Given the description of an element on the screen output the (x, y) to click on. 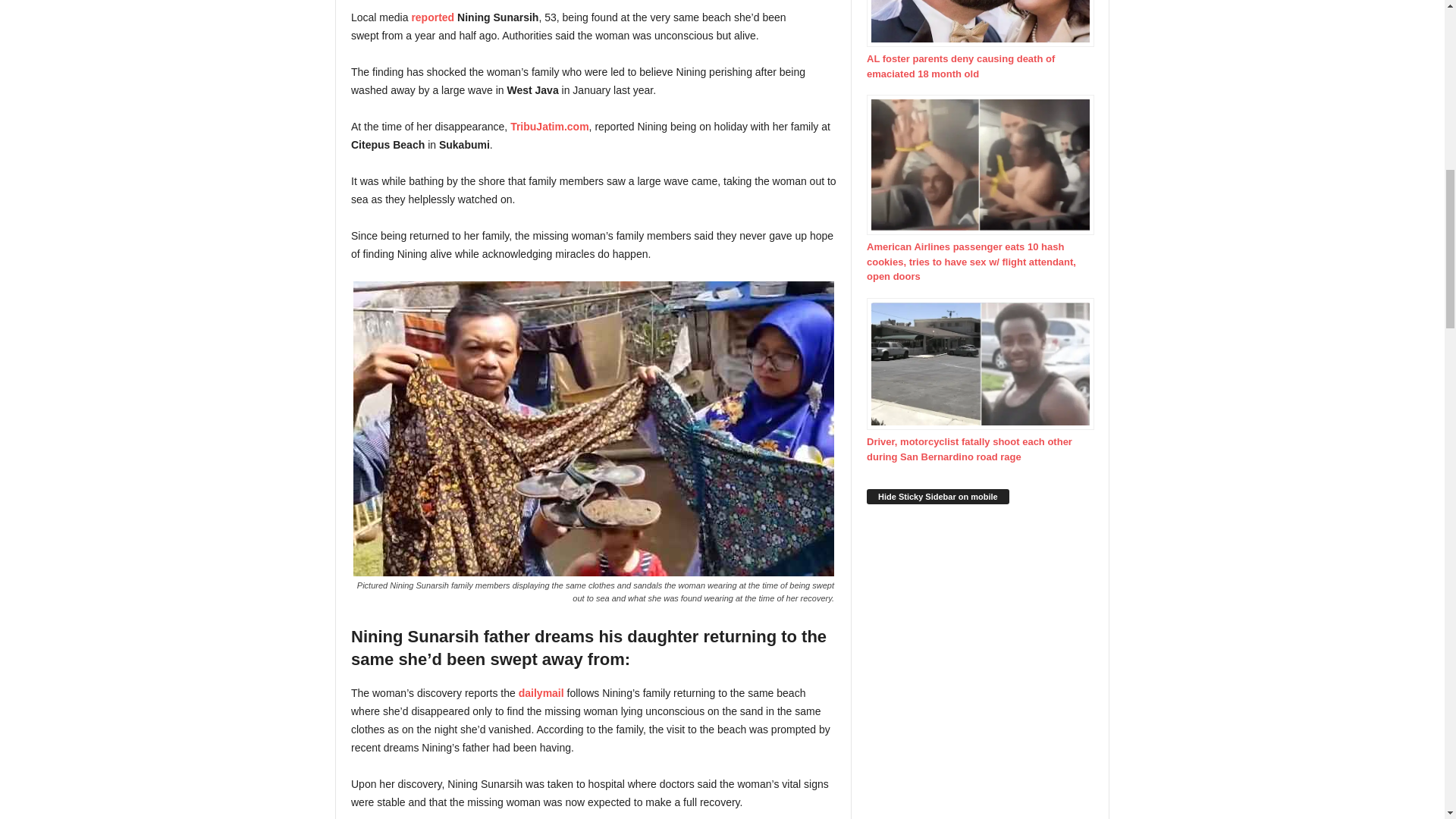
reported (430, 17)
TribuJatim.com (549, 126)
